Given the description of an element on the screen output the (x, y) to click on. 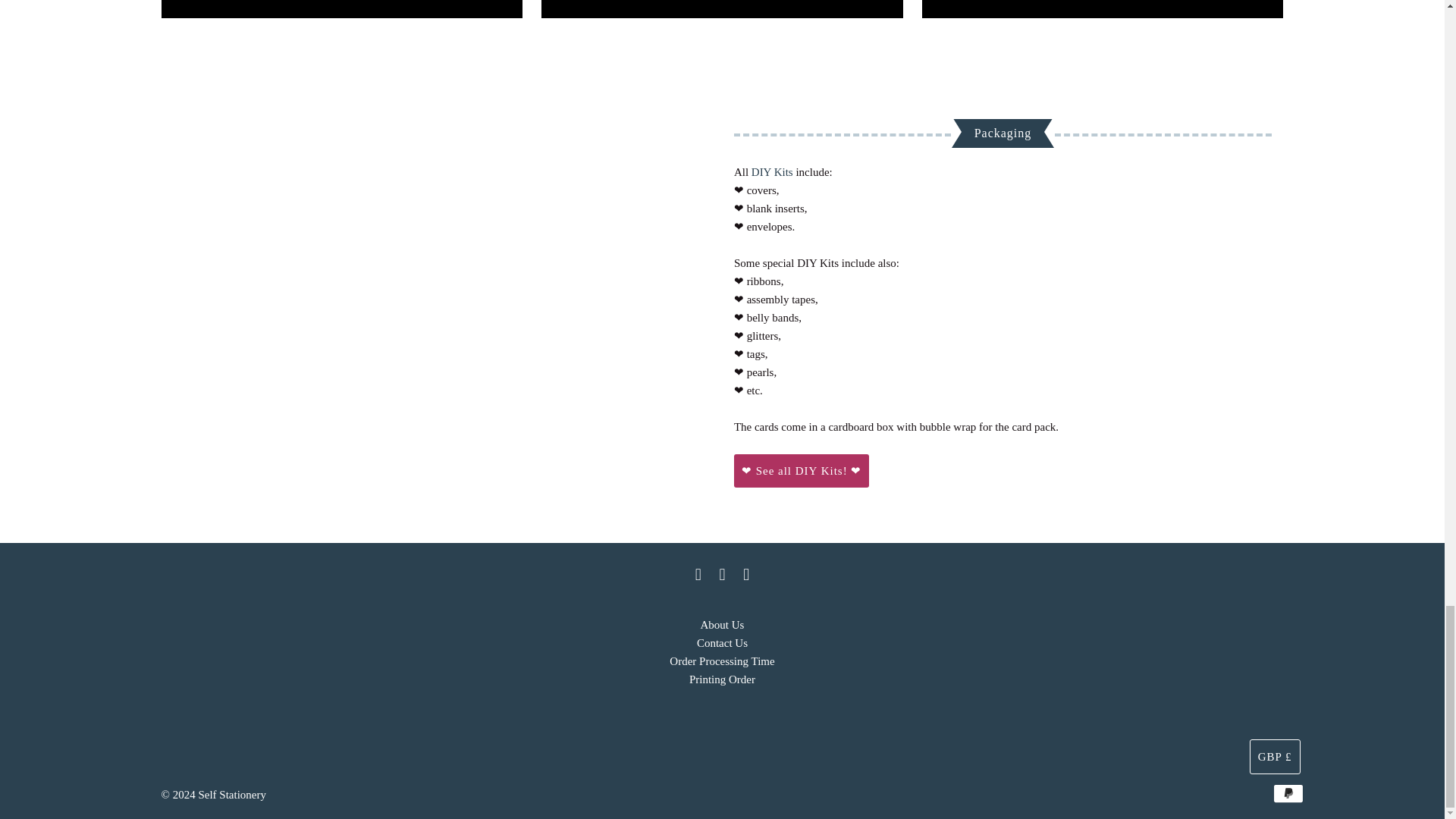
Pocketfold (341, 9)
DIY Kits (772, 172)
PayPal (1287, 793)
Gate Fold Invitations (721, 9)
Pocket Fold Square (1102, 9)
